Given the description of an element on the screen output the (x, y) to click on. 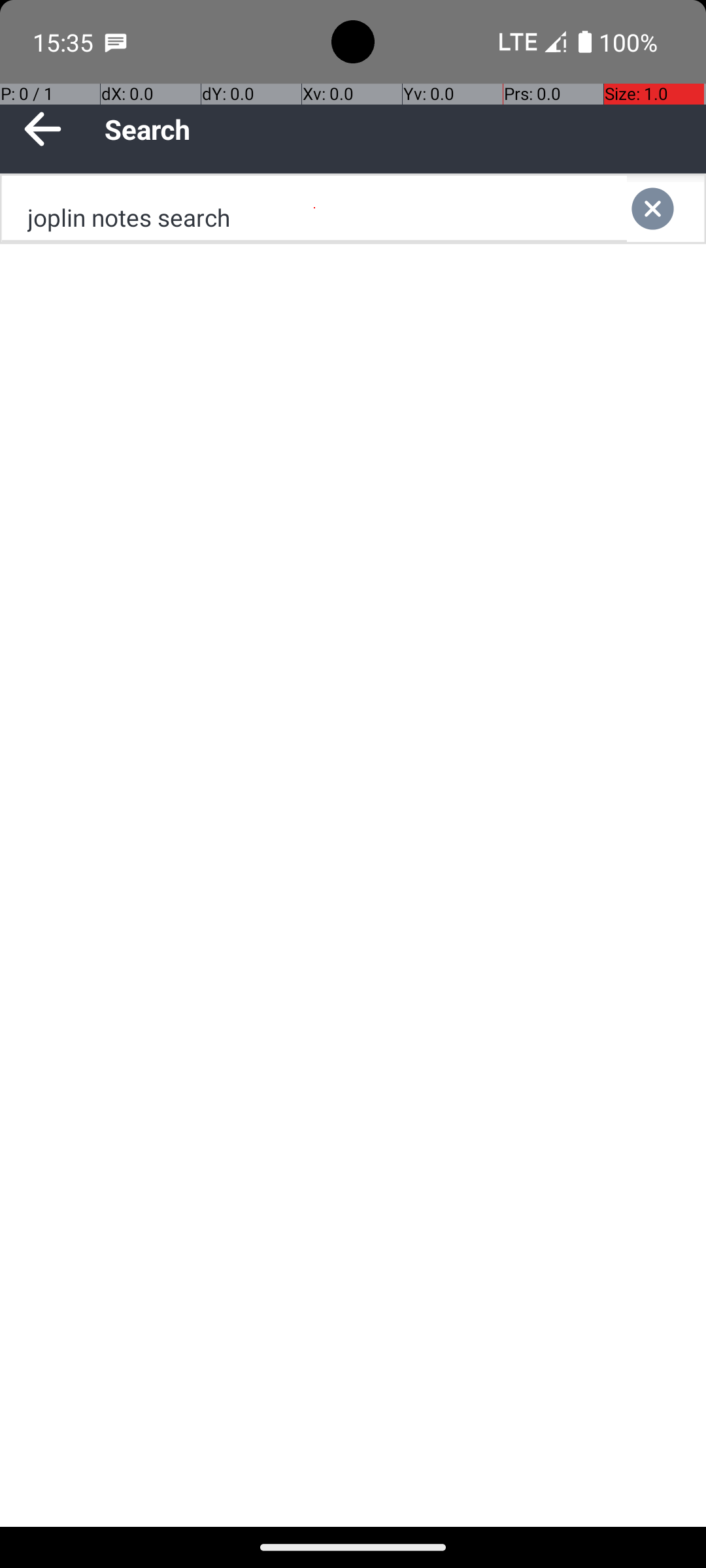
joplin notes search Element type: android.widget.EditText (313, 208)
 Element type: android.widget.TextView (665, 208)
